Given the description of an element on the screen output the (x, y) to click on. 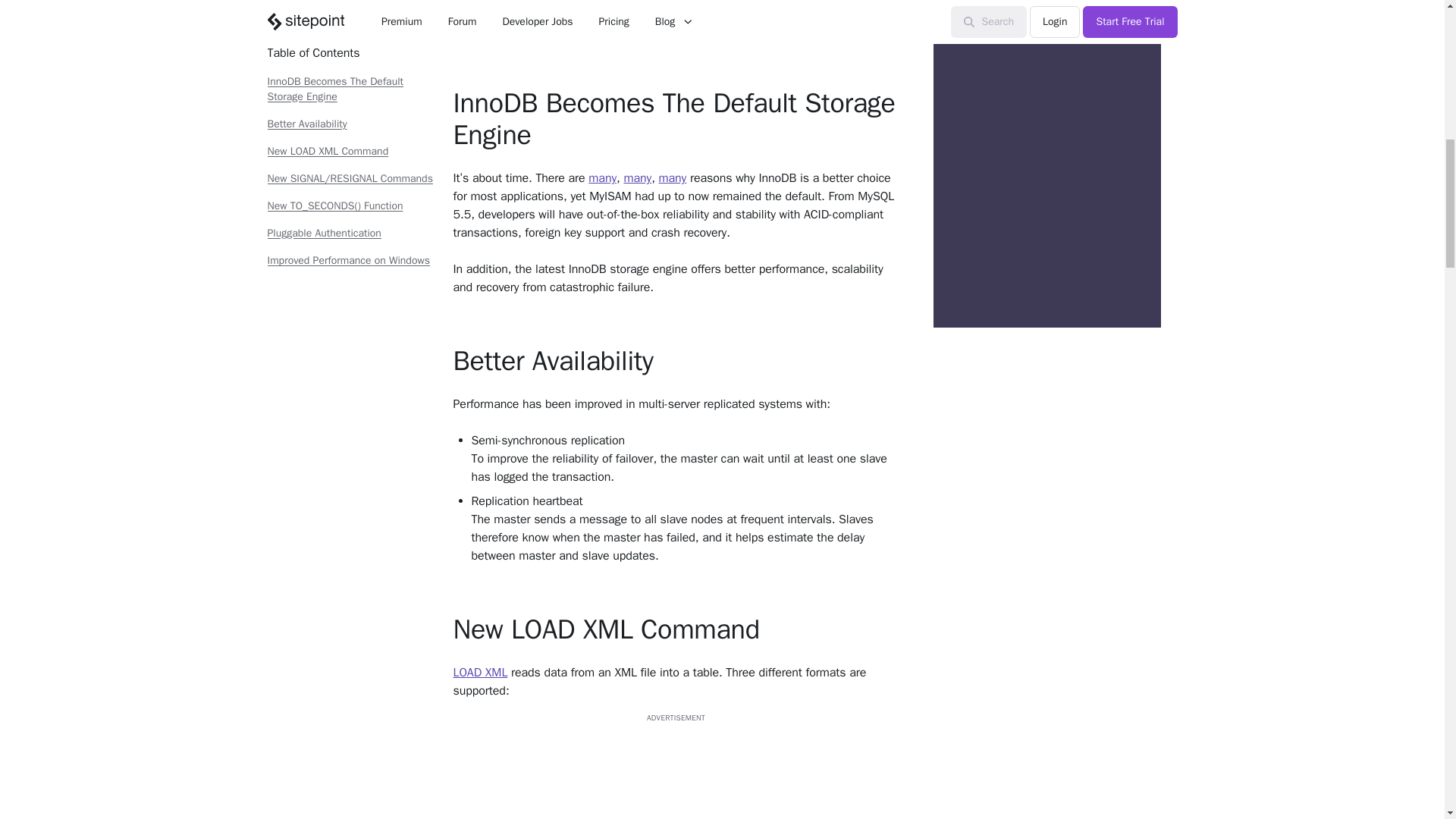
many (636, 177)
many (601, 177)
LOAD XML (480, 672)
many (673, 177)
